Given the description of an element on the screen output the (x, y) to click on. 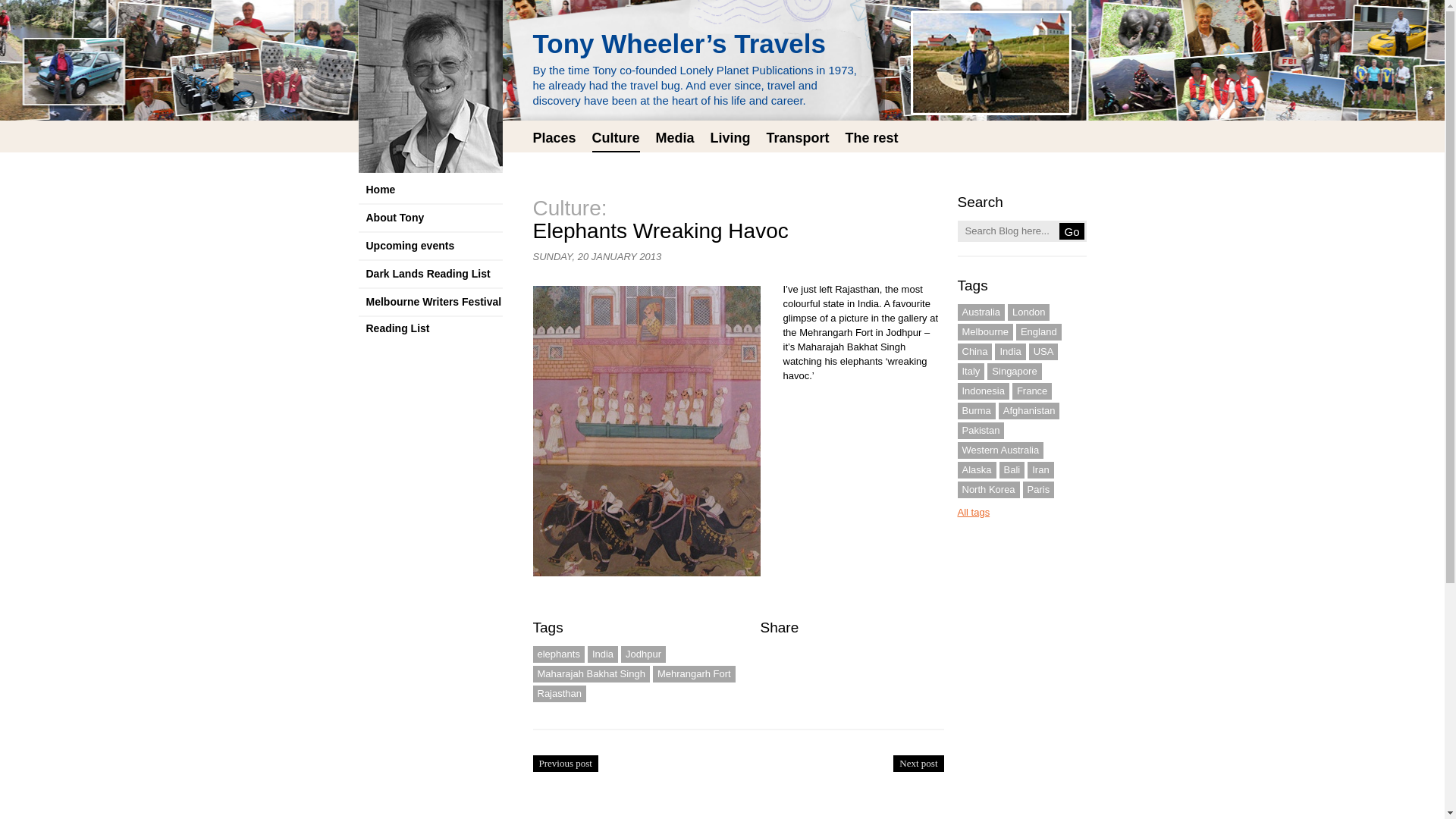
Rajasthan (559, 693)
Culture (616, 141)
Mehrangarh Fort (693, 673)
About Tony (430, 218)
Dark Lands Reading List (430, 275)
Go (1071, 230)
Maharajah Bakhat Singh (590, 673)
The rest (871, 140)
France (1031, 391)
Singapore (1014, 371)
Home (430, 190)
Burma (975, 410)
Melbourne Writers Festival Reading List (430, 302)
Places (553, 140)
elephant havoc (649, 434)
